Given the description of an element on the screen output the (x, y) to click on. 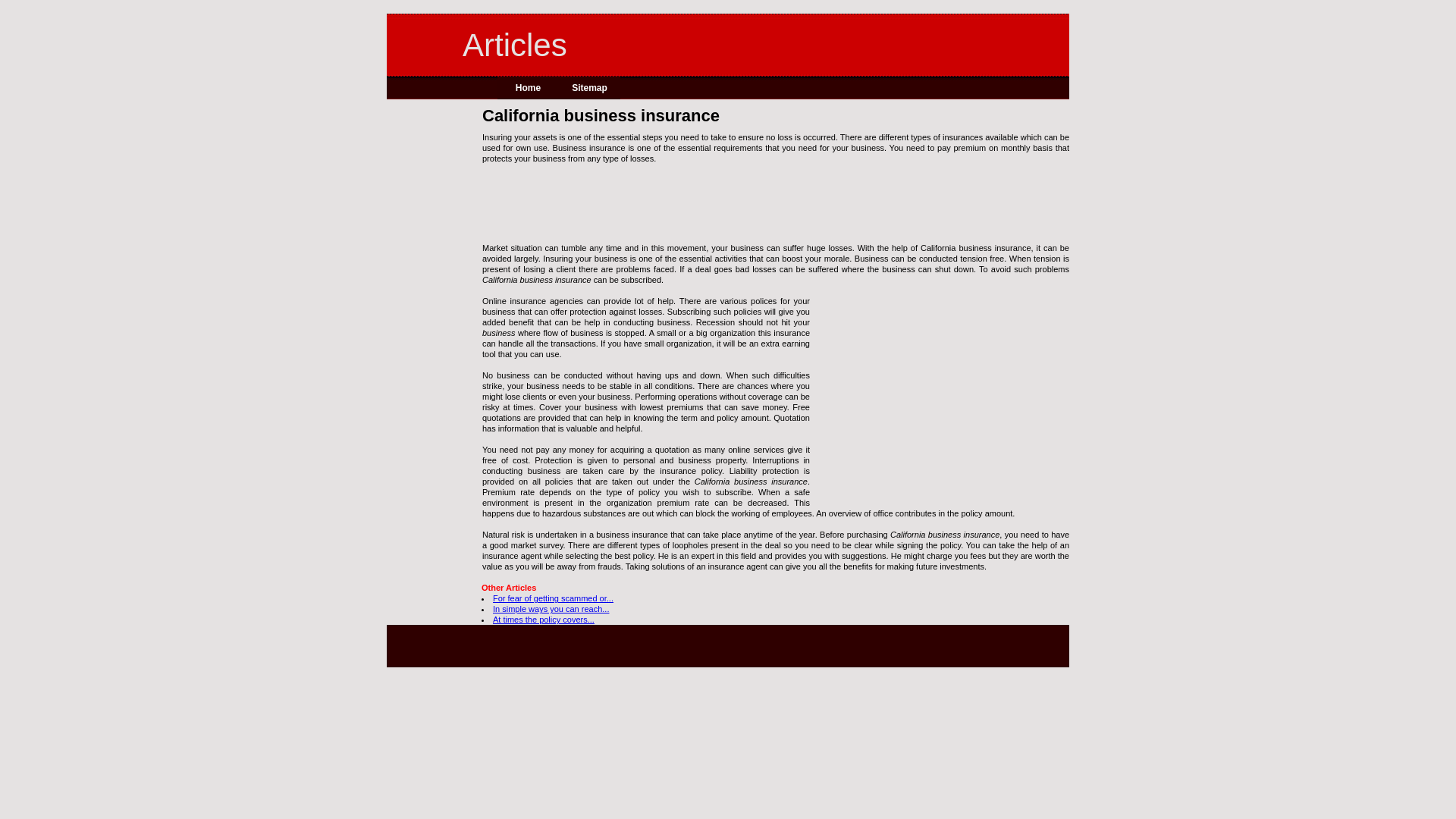
California business insurance (536, 279)
California business insurance (751, 481)
Home (528, 87)
California business insurance (943, 533)
California business insurance (774, 115)
At times the policy covers... (543, 619)
Sitemap (589, 87)
In simple ways you can reach... (550, 608)
For fear of getting scammed or... (552, 597)
California business insurance (498, 332)
